Given the description of an element on the screen output the (x, y) to click on. 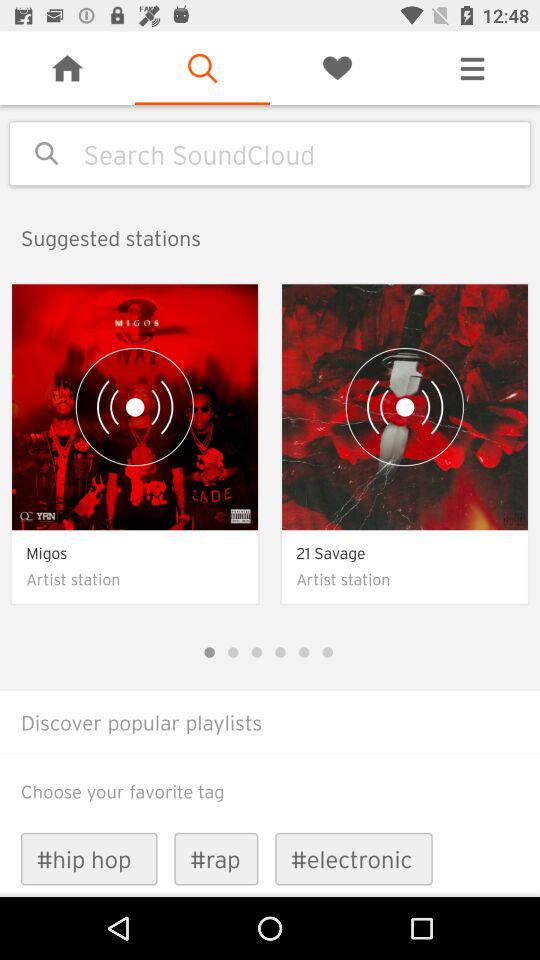
tap the icon next to #hip hop (216, 858)
